Given the description of an element on the screen output the (x, y) to click on. 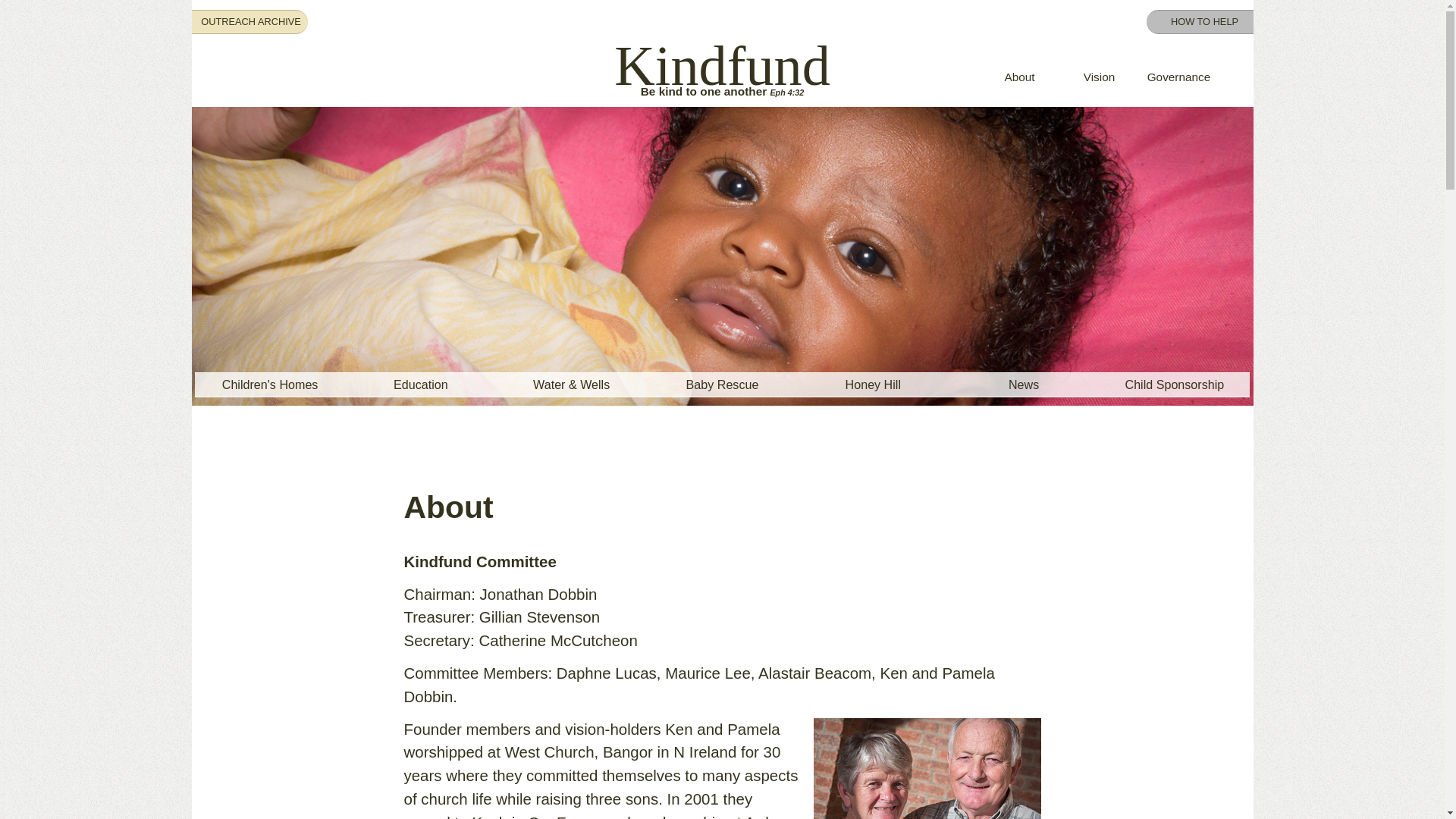
Governance (1179, 76)
Children's Homes (270, 384)
Vision (1099, 76)
Baby Rescue (721, 384)
Child Sponsorship (1174, 384)
Kindfund (721, 66)
Education (421, 384)
HOW TO HELP (1204, 21)
About (1018, 76)
Honey Hill (873, 384)
OUTREACH ARCHIVE (250, 21)
News (1024, 384)
